Given the description of an element on the screen output the (x, y) to click on. 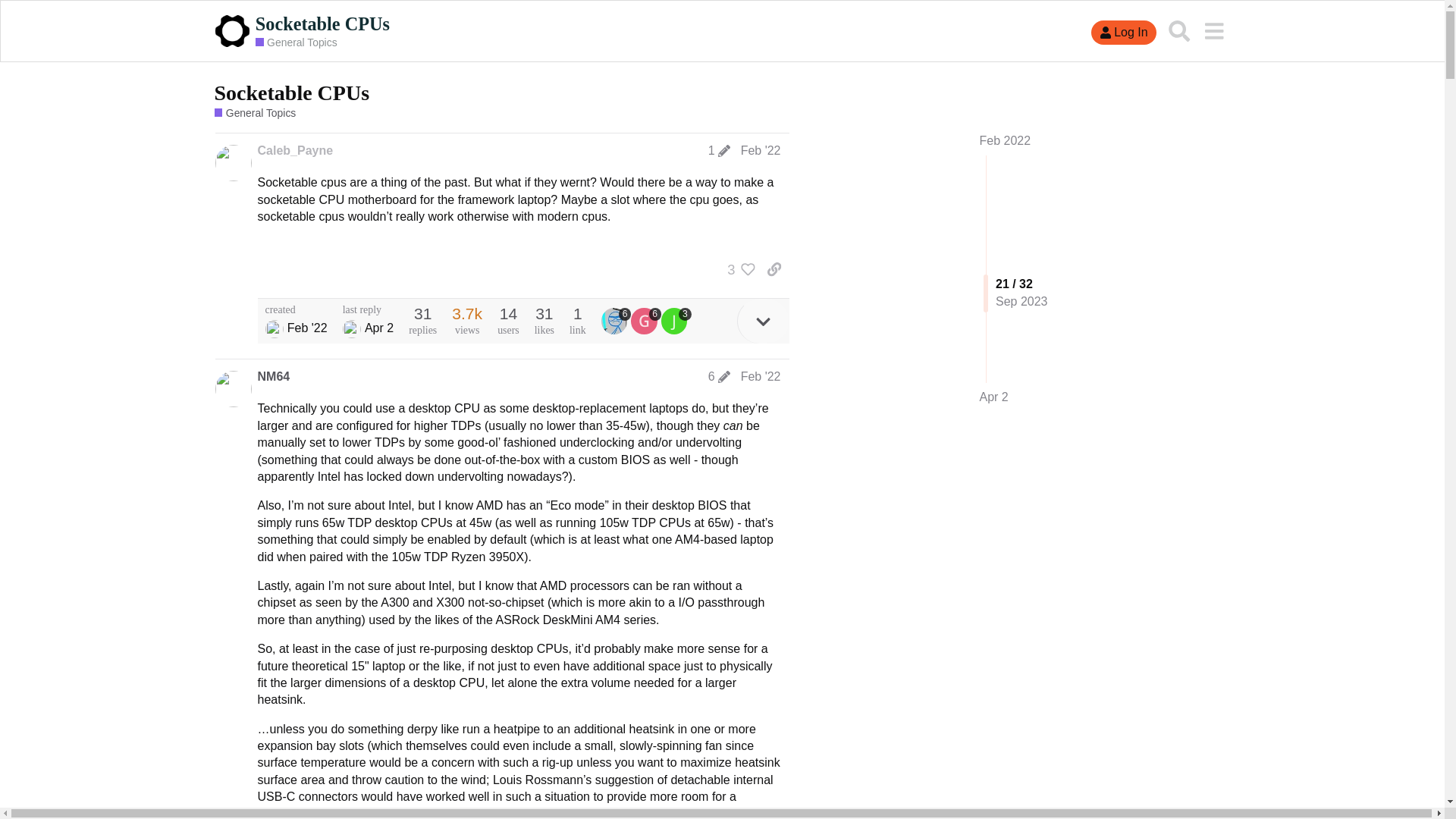
Apr 2, 2024 2:10 pm (994, 396)
6 (616, 320)
Log In (1123, 32)
3 people liked this post (737, 269)
Socketable CPUs (291, 92)
Search (1178, 30)
Feb 2022 (1004, 140)
6 (719, 377)
1 (719, 151)
Post date (760, 150)
General Topics (296, 42)
6 (645, 320)
menu (1213, 30)
